Given the description of an element on the screen output the (x, y) to click on. 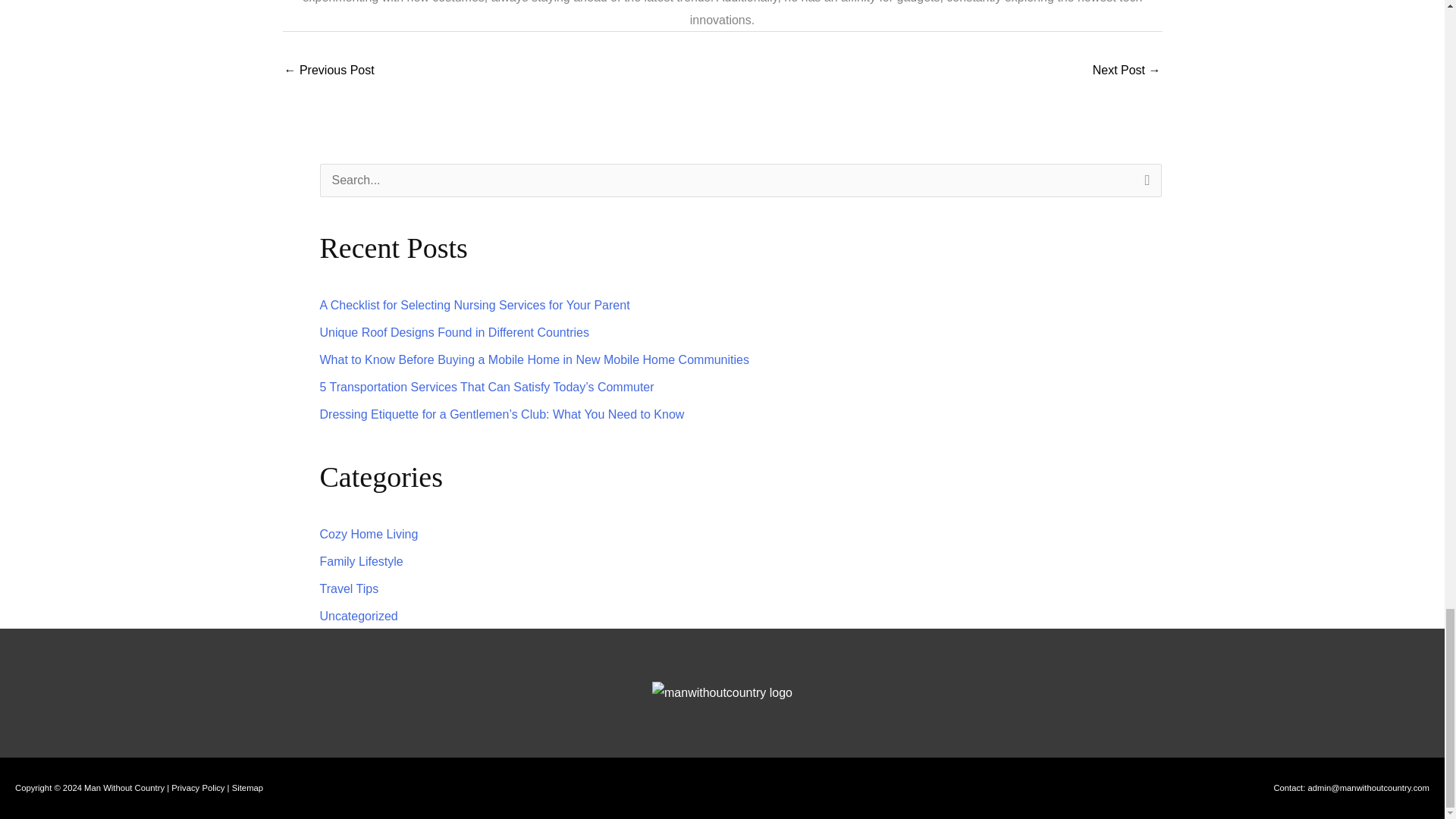
Uncategorized (358, 615)
Travel Tips (349, 588)
A Checklist for Selecting Nursing Services for Your Parent (475, 305)
Cozy Home Living (369, 533)
Privacy Policy (197, 787)
Making the Most Out of Luxury Car Long Drives (1126, 71)
Family Lifestyle (361, 561)
Top Three American States to Visit This Summer (328, 71)
Sitemap (247, 787)
Unique Roof Designs Found in Different Countries (454, 332)
